Given the description of an element on the screen output the (x, y) to click on. 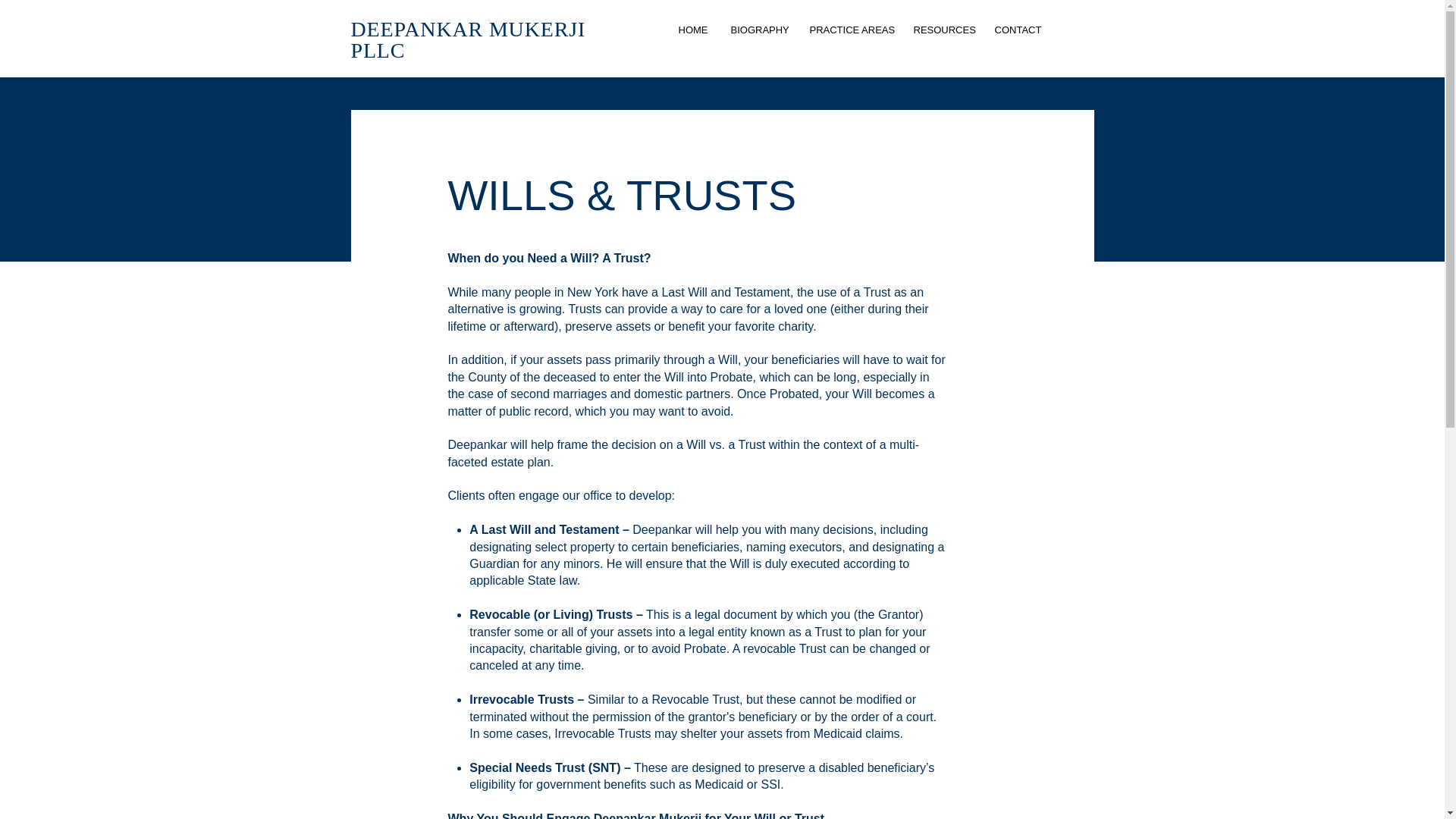
DEEPANKAR MUKERJI PLLC (467, 39)
HOME (692, 29)
RESOURCES (943, 29)
BIOGRAPHY (758, 29)
CONTACT (1017, 29)
